Given the description of an element on the screen output the (x, y) to click on. 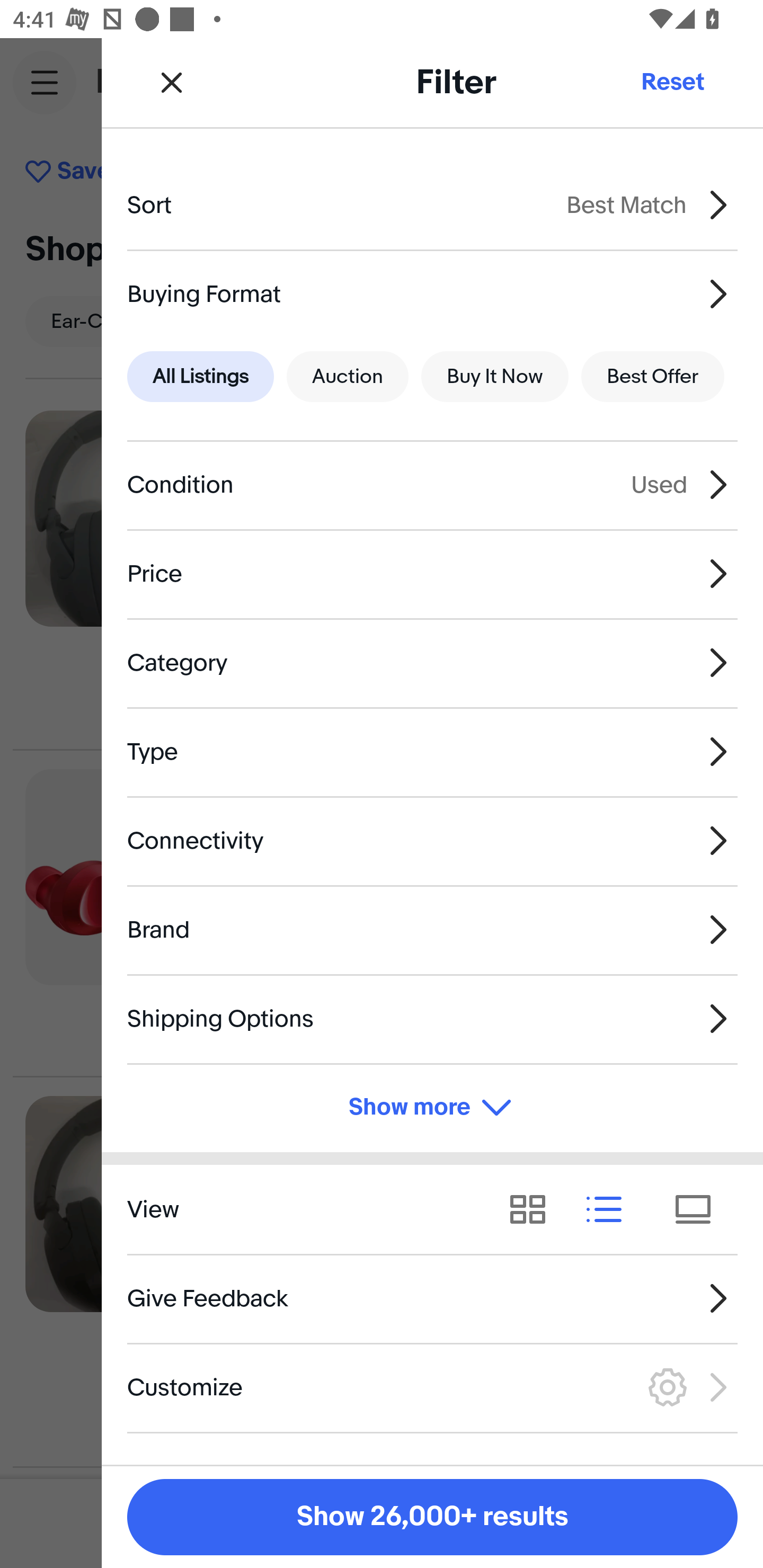
Close Filter (171, 81)
Reset (672, 81)
Buying Format (432, 293)
All Listings (200, 376)
Auction (347, 376)
Buy It Now (494, 376)
Best Offer (652, 376)
Condition Used (432, 484)
Price (432, 573)
Category (432, 662)
Type (432, 751)
Connectivity (432, 840)
Brand (432, 929)
Shipping Options (432, 1018)
Show more (432, 1107)
View results as grid (533, 1209)
View results as list (610, 1209)
View results as tiles (699, 1209)
